Given the description of an element on the screen output the (x, y) to click on. 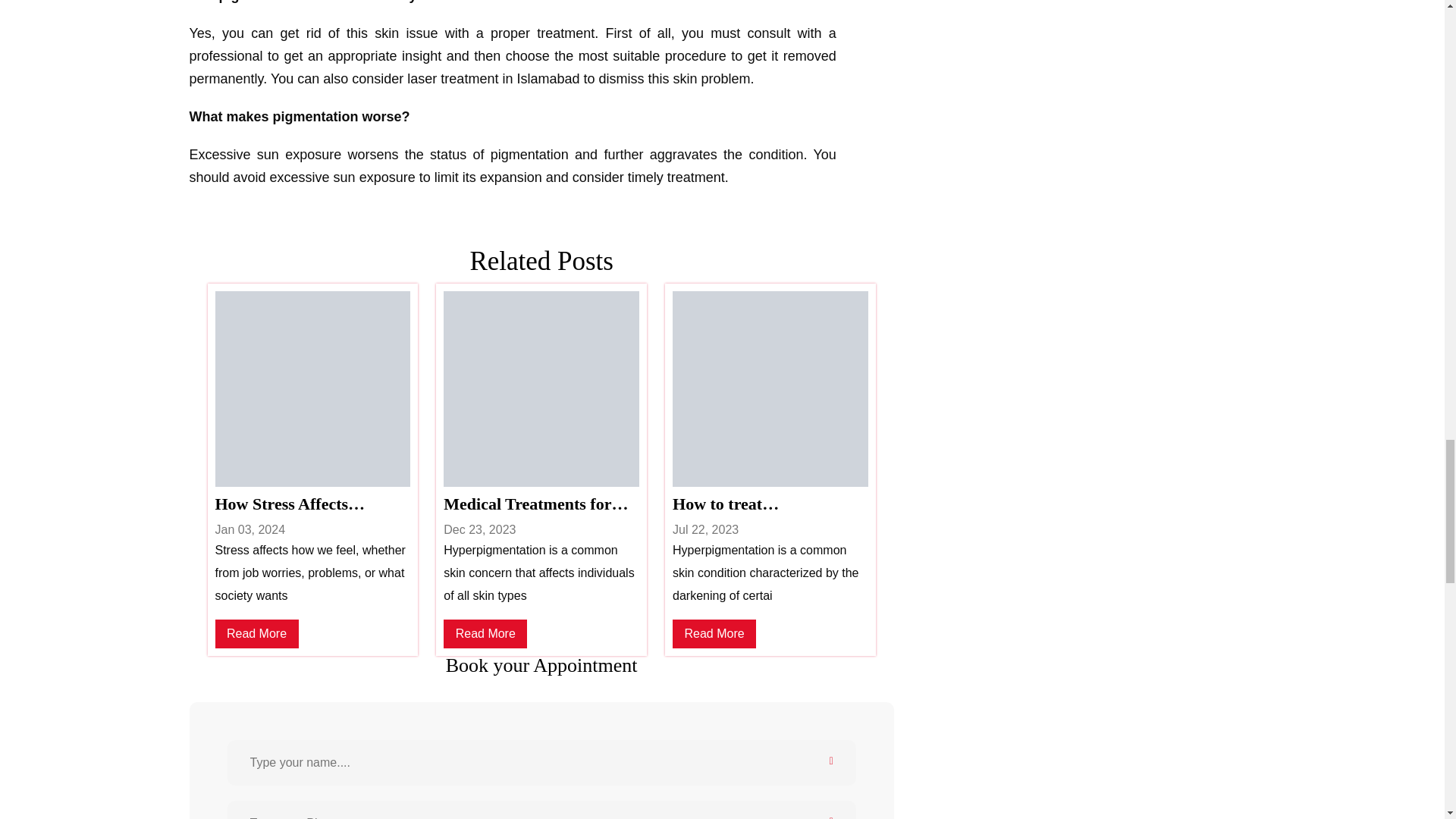
Medical Treatments for Hyperpigmentation: What to Expect (541, 504)
How to treat hyperpigmentation in the body? (769, 504)
